Given the description of an element on the screen output the (x, y) to click on. 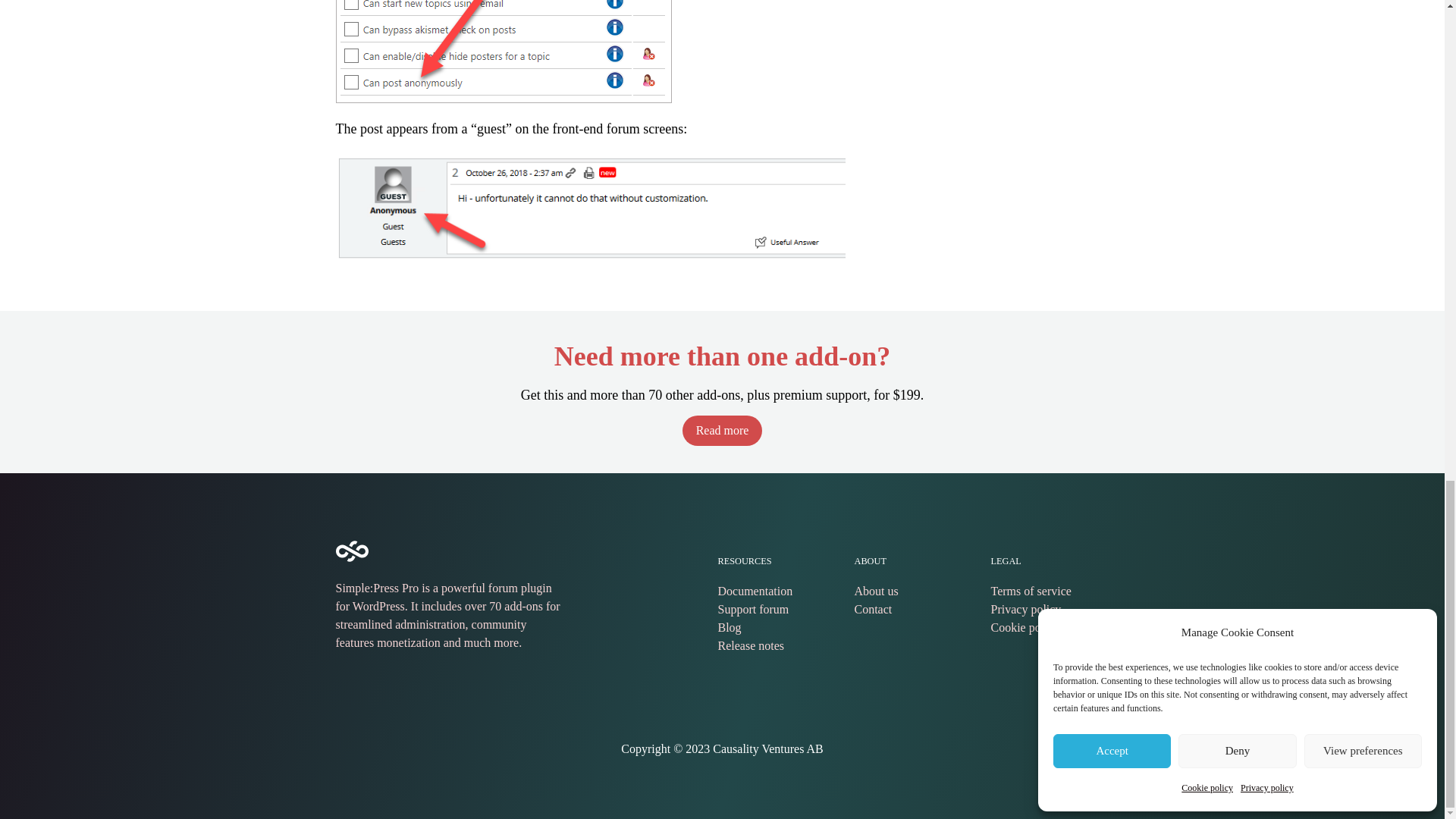
About us (875, 590)
Blog (729, 626)
Support forum (753, 608)
Documentation (754, 590)
Read more (722, 430)
Contact (872, 608)
Release notes (750, 645)
